Given the description of an element on the screen output the (x, y) to click on. 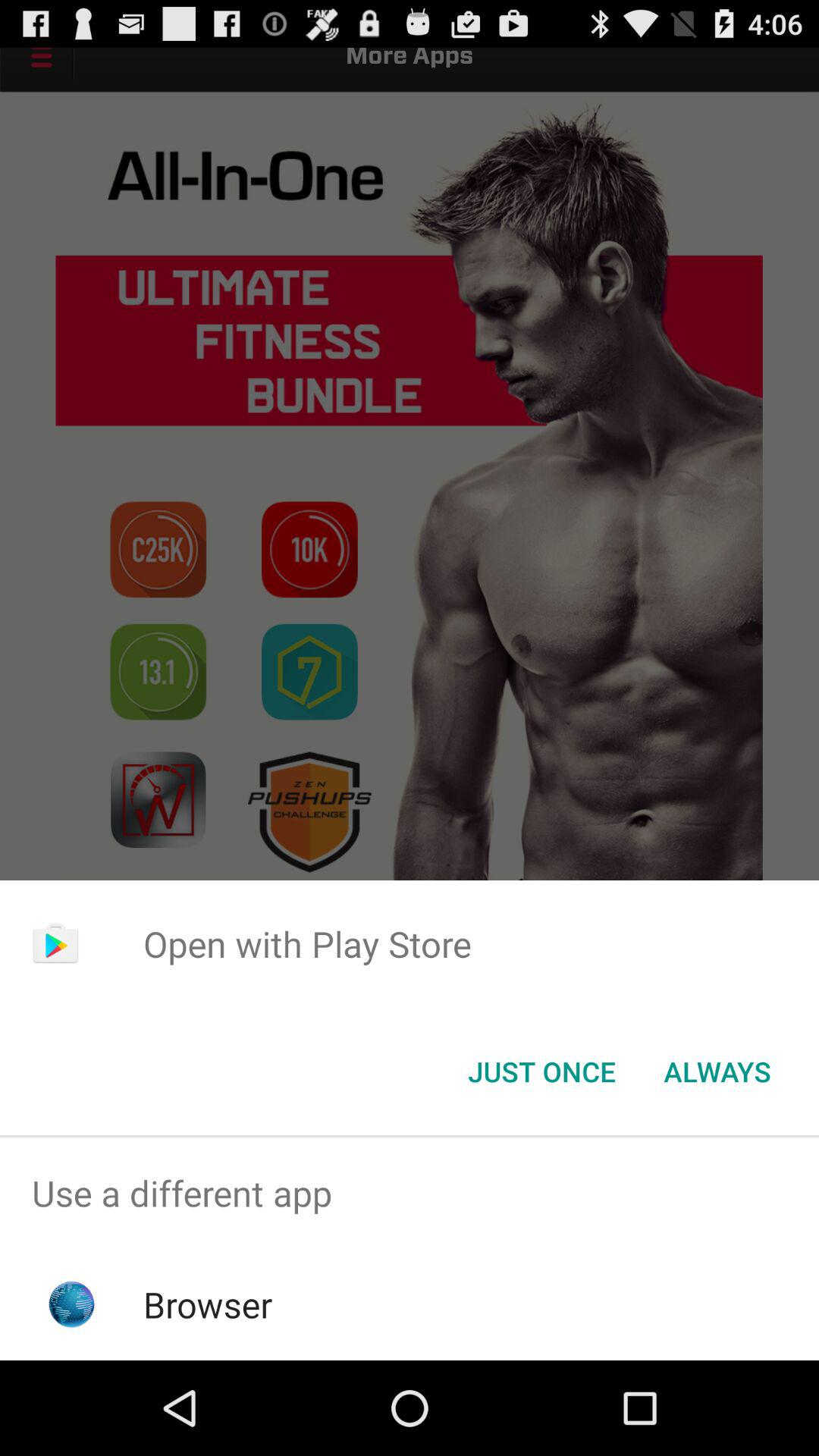
choose just once (541, 1071)
